Given the description of an element on the screen output the (x, y) to click on. 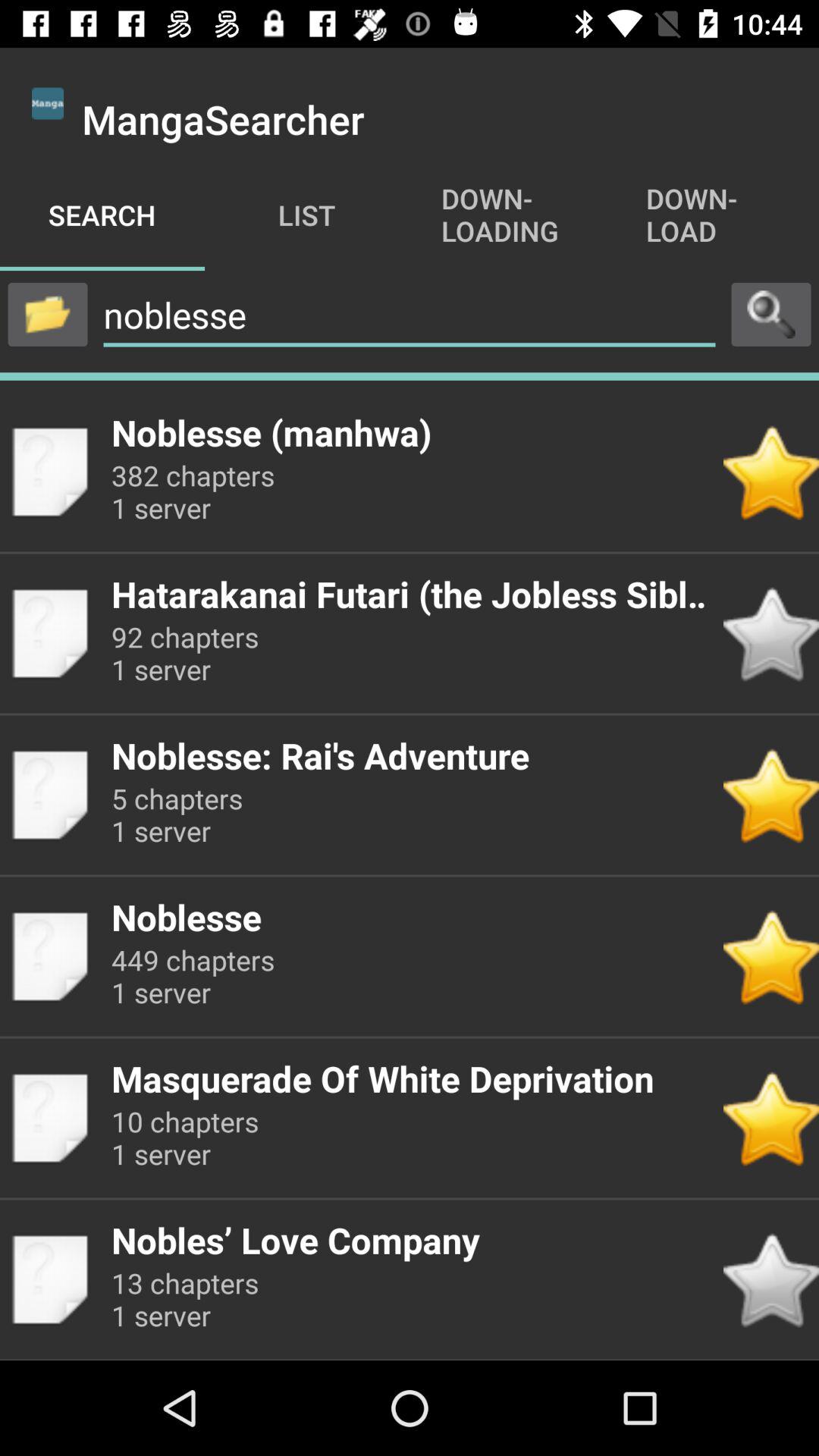
folder button (47, 314)
